Given the description of an element on the screen output the (x, y) to click on. 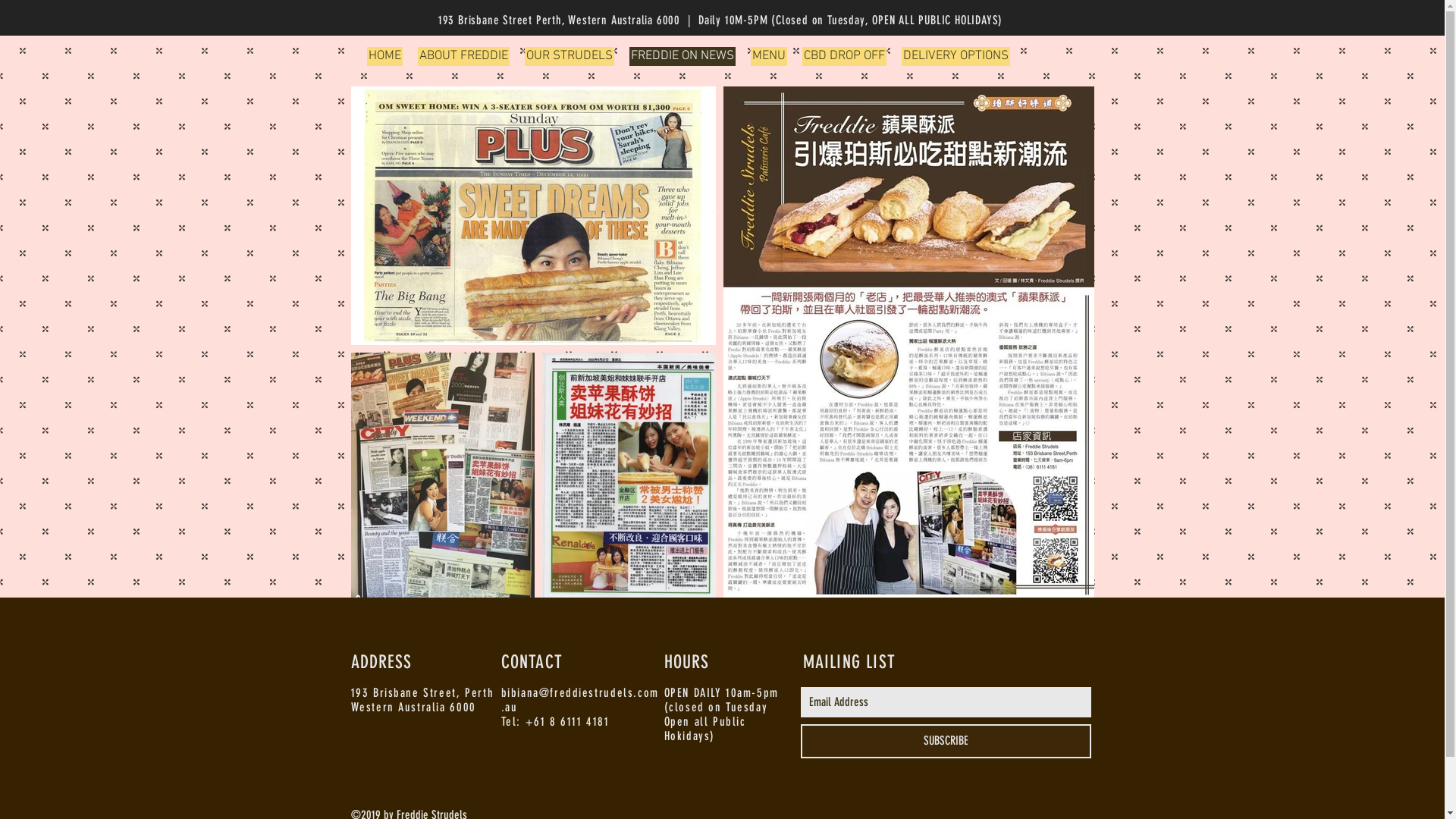
HOME Element type: text (384, 56)
CBD DROP OFF Element type: text (844, 56)
MENU Element type: text (768, 56)
OUR STRUDELS Element type: text (569, 56)
bibiana@freddiestrudels.com.au Element type: text (579, 699)
SUBSCRIBE Element type: text (945, 741)
FREDDIE ON NEWS Element type: text (682, 56)
ABOUT FREDDIE Element type: text (462, 56)
DELIVERY OPTIONS Element type: text (954, 56)
